Given the description of an element on the screen output the (x, y) to click on. 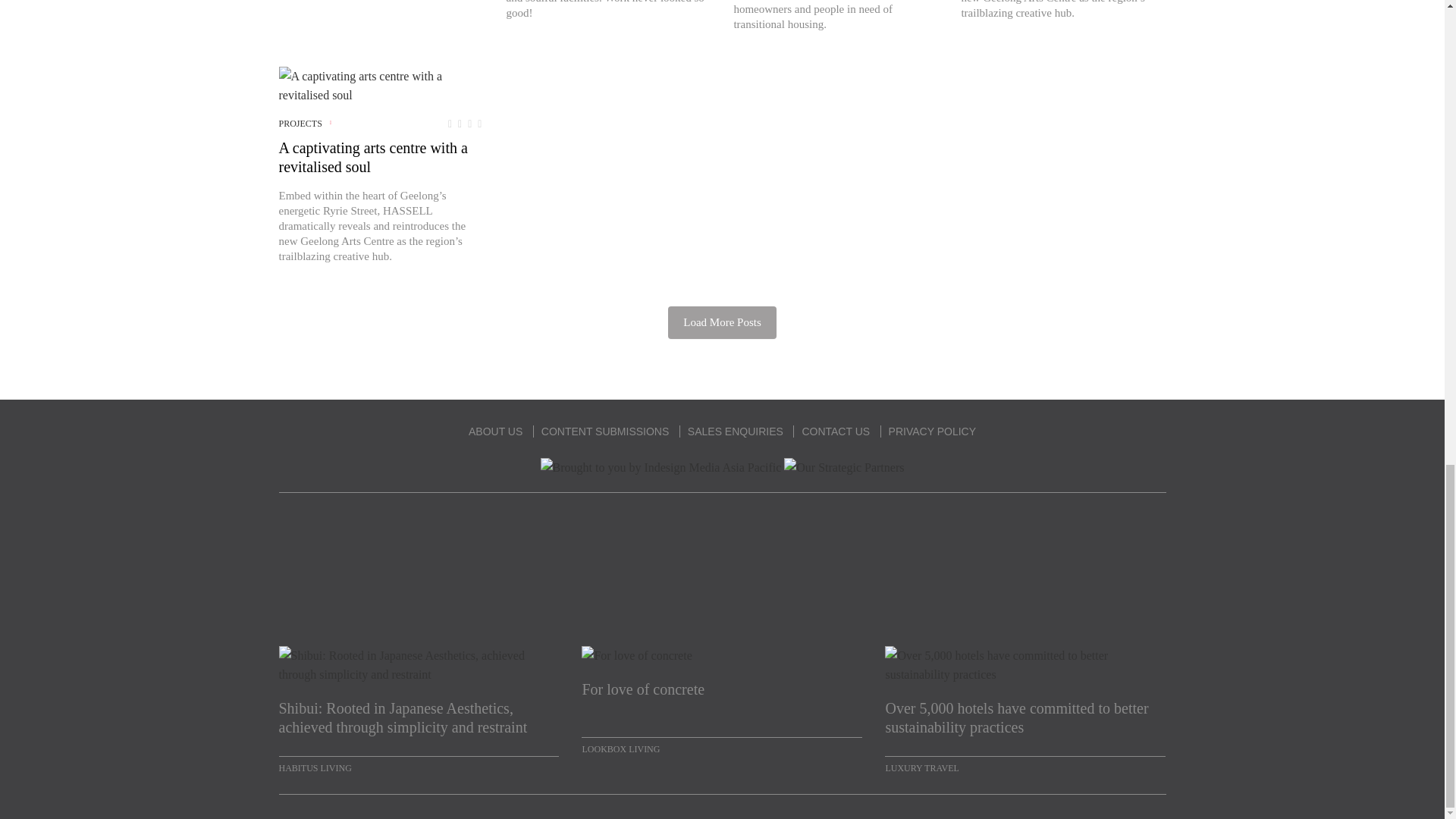
For love of concrete (720, 699)
A captivating arts centre with a revitalised soul (381, 85)
Our Strategic Partners (844, 466)
Brought to you by Indesign Media Asia Pacific (660, 466)
